Given the description of an element on the screen output the (x, y) to click on. 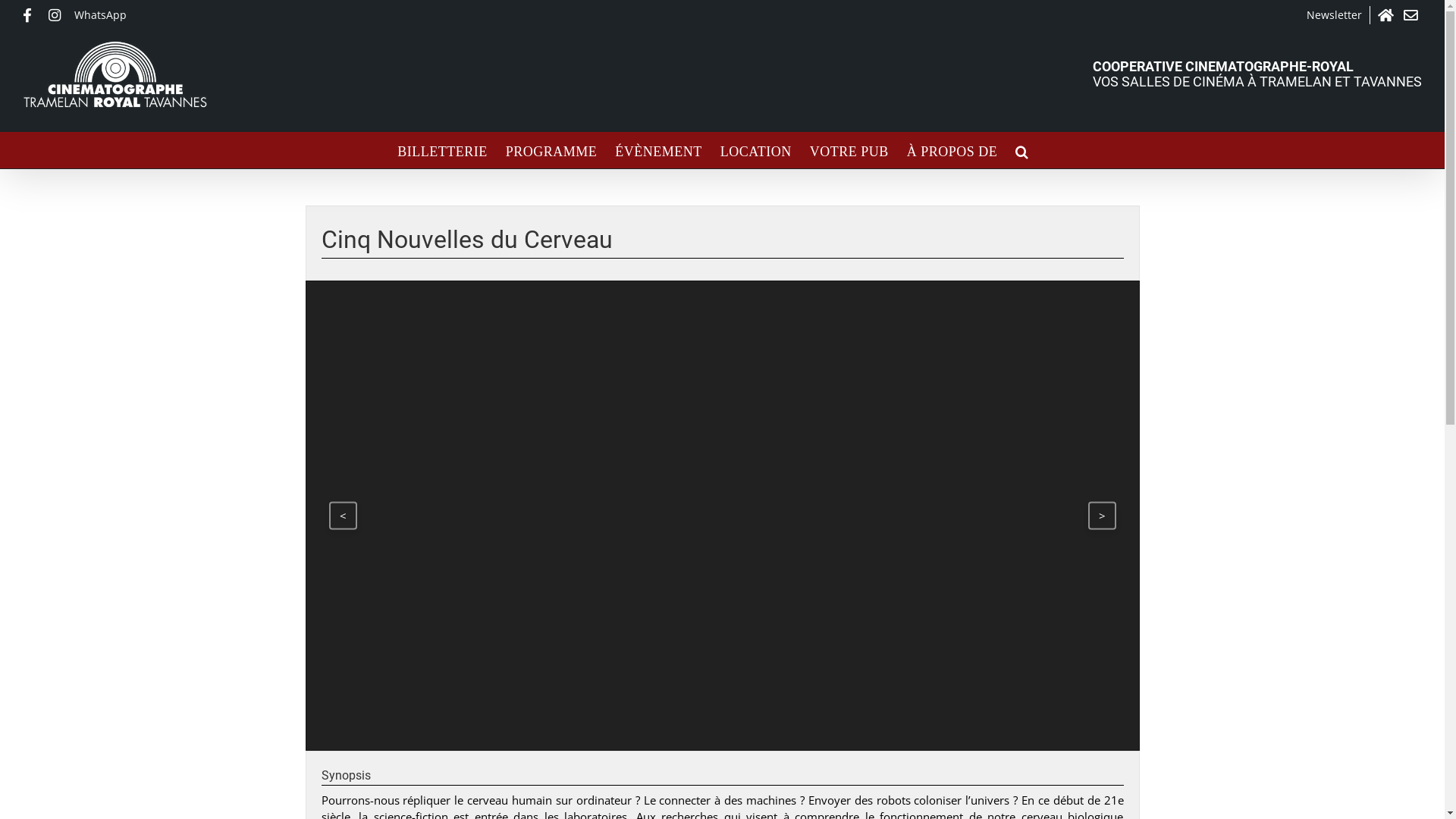
Recherche Element type: hover (1022, 149)
PROGRAMME Element type: text (551, 149)
Facebook Element type: text (31, 15)
BILLETTERIE Element type: text (441, 149)
> Element type: text (1101, 516)
Newsletter Element type: text (1333, 14)
< Element type: text (343, 516)
WhatsApp Element type: text (100, 14)
Accueil Element type: text (1386, 15)
Instagram Element type: text (57, 15)
VOTRE PUB Element type: text (848, 149)
LOCATION Element type: text (755, 149)
Contact Element type: text (1412, 15)
